Given the description of an element on the screen output the (x, y) to click on. 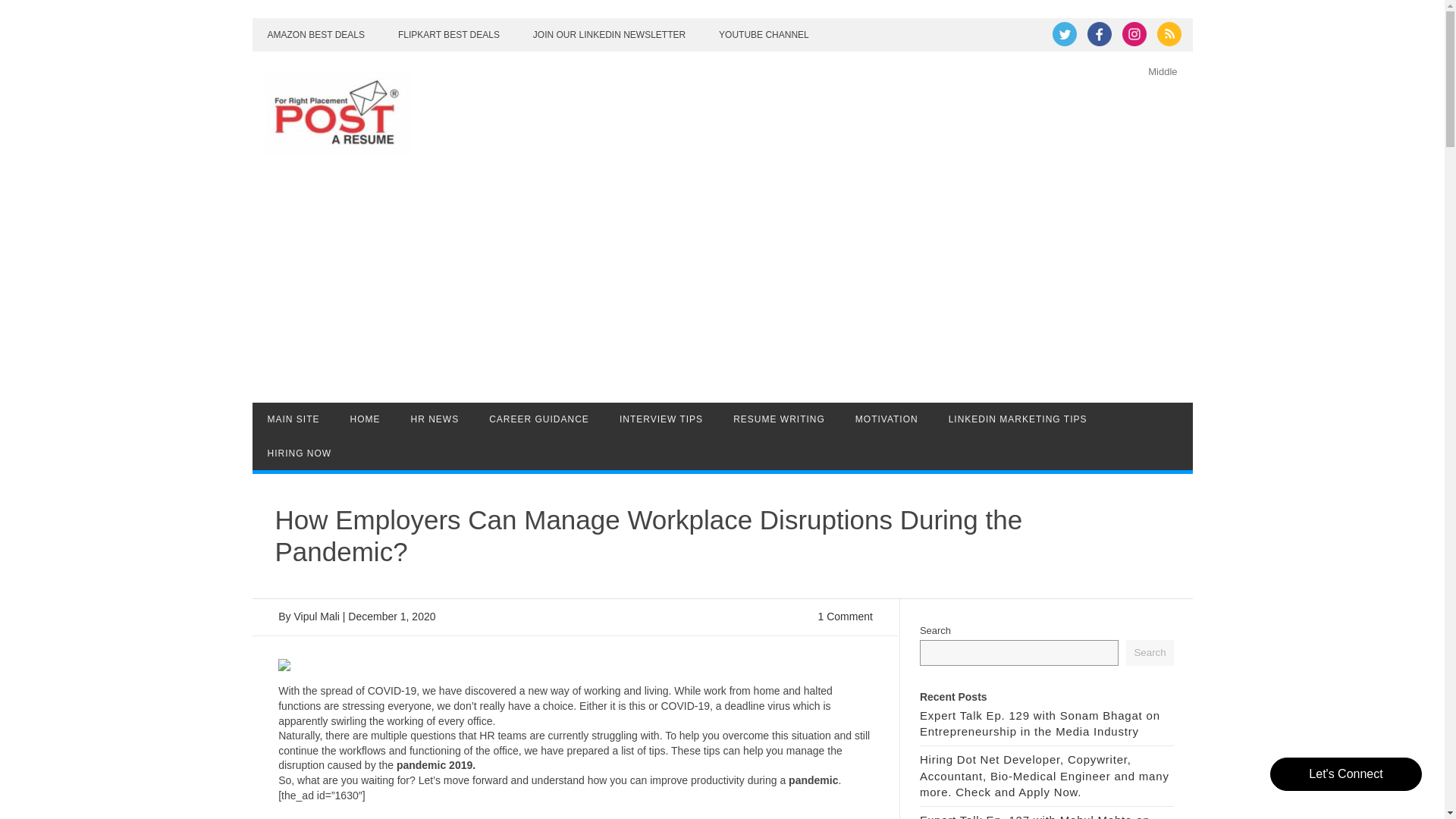
AMAZON BEST DEALS (314, 34)
MAIN SITE (292, 418)
HOME (365, 418)
HR NEWS (435, 418)
YOUTUBE CHANNEL (763, 34)
FLIPKART BEST DEALS (448, 34)
JOIN OUR LINKEDIN NEWSLETTER (609, 34)
CAREER GUIDANCE (539, 418)
INTERVIEW TIPS (660, 418)
Posts by Vipul Mali (316, 616)
